Given the description of an element on the screen output the (x, y) to click on. 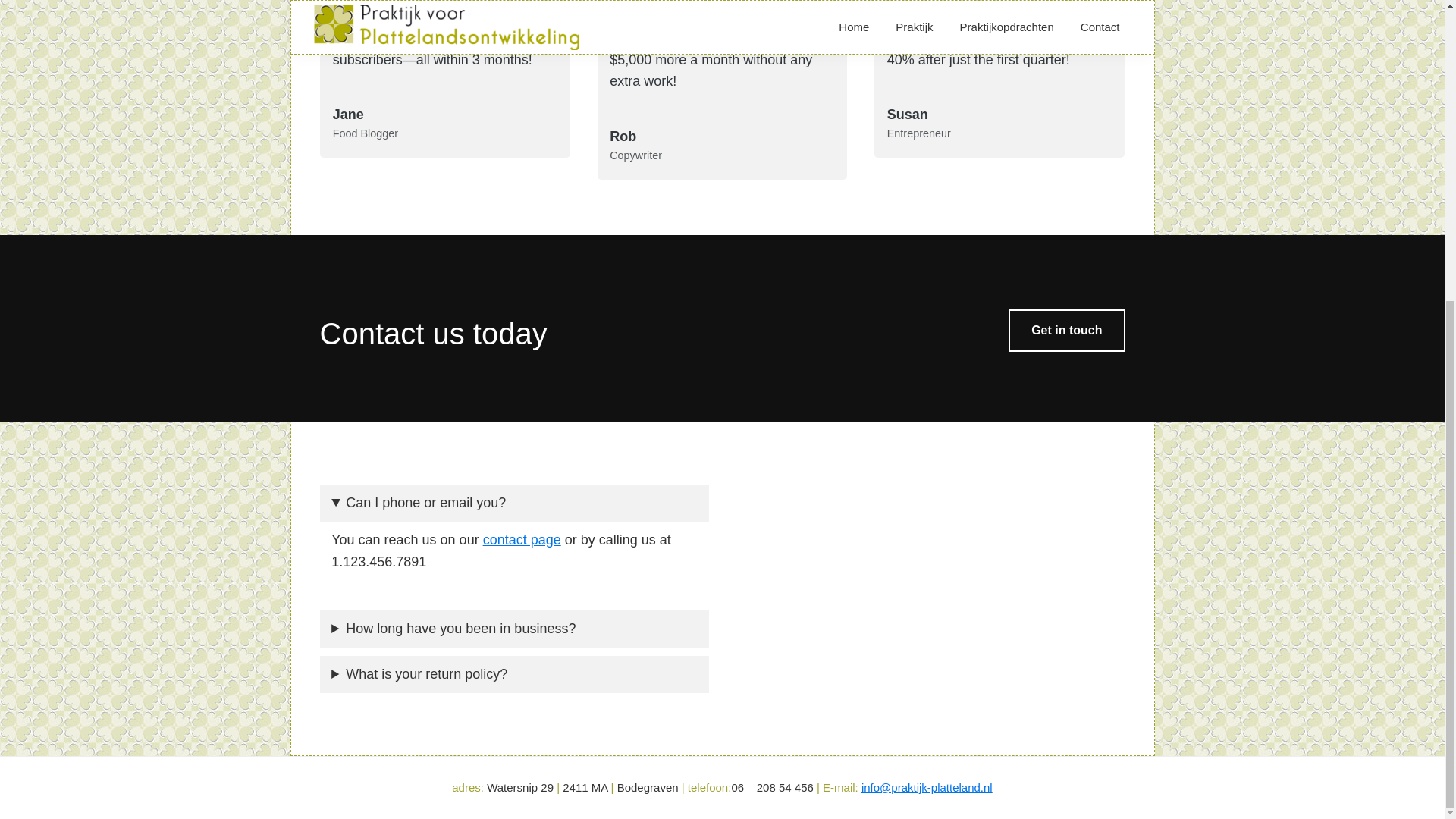
Get in touch (1066, 330)
contact page (521, 539)
